Given the description of an element on the screen output the (x, y) to click on. 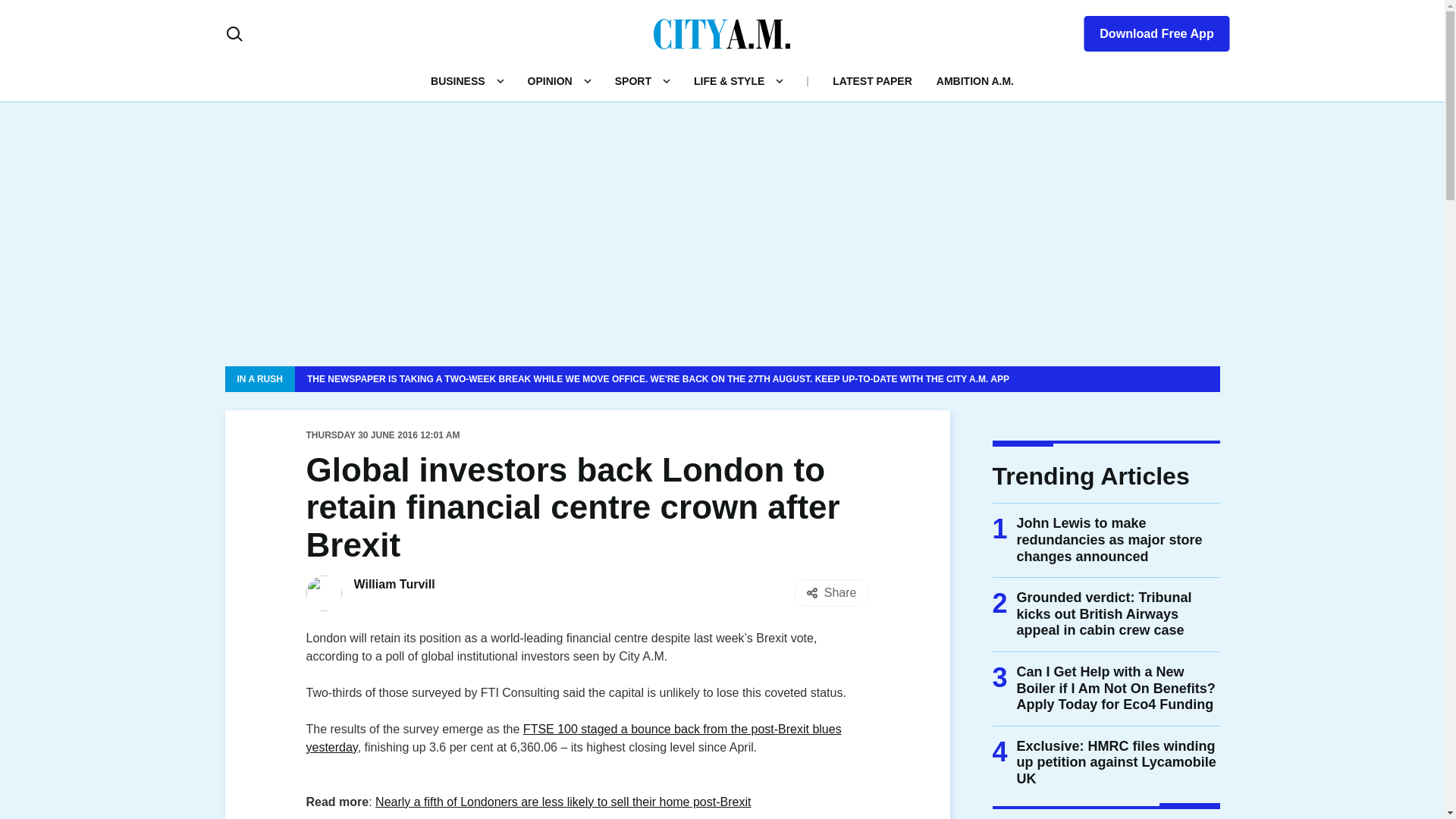
SPORT (632, 80)
OPINION (549, 80)
BUSINESS (457, 80)
CityAM (721, 33)
Download Free App (1146, 30)
